Given the description of an element on the screen output the (x, y) to click on. 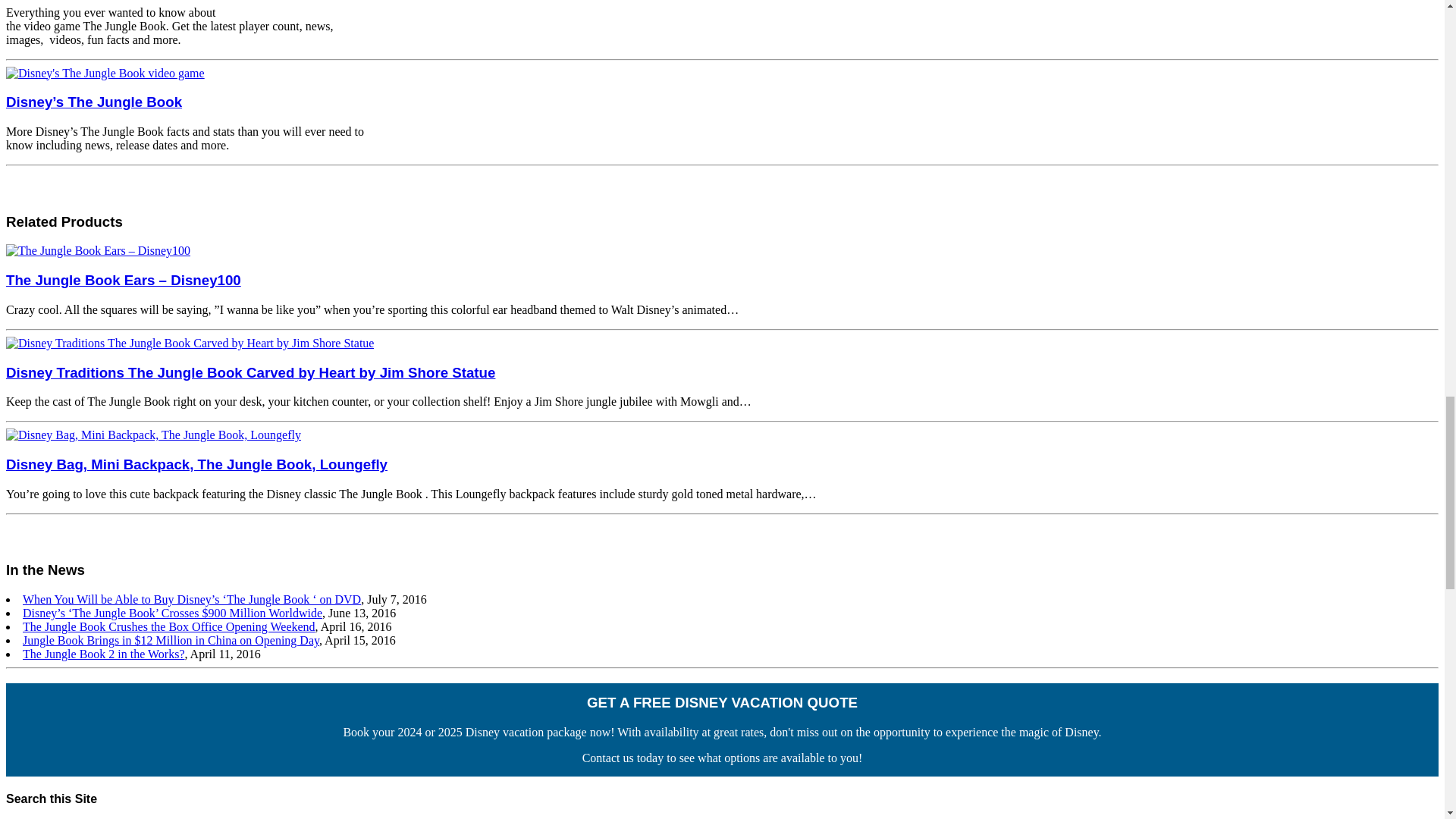
Disney Bag, Mini Backpack, The Jungle Book, Loungefly (196, 464)
The Jungle Book Crushes the Box Office Opening Weekend (169, 626)
